Given the description of an element on the screen output the (x, y) to click on. 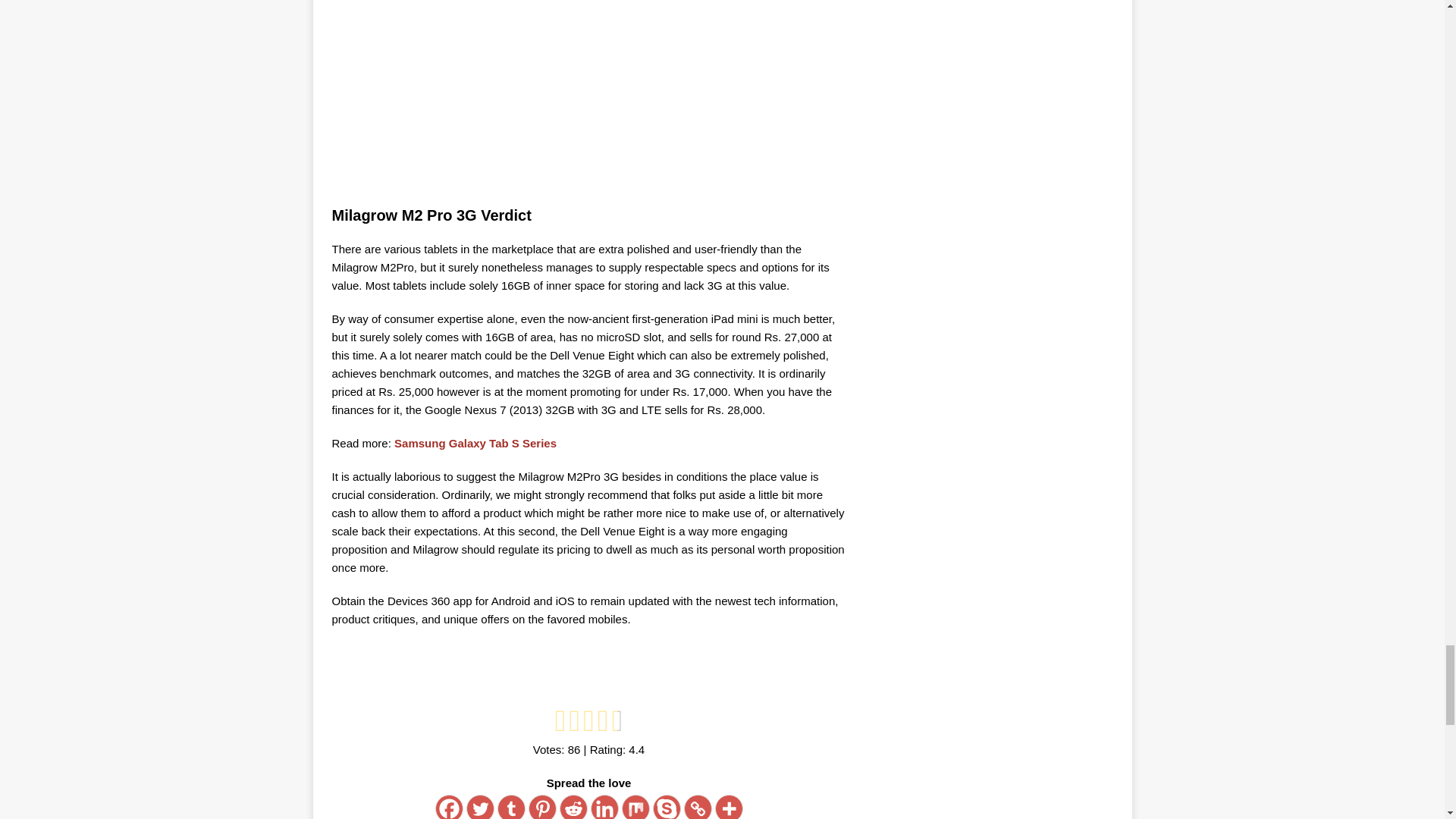
Samsung Galaxy Tab S Series (475, 442)
